Given the description of an element on the screen output the (x, y) to click on. 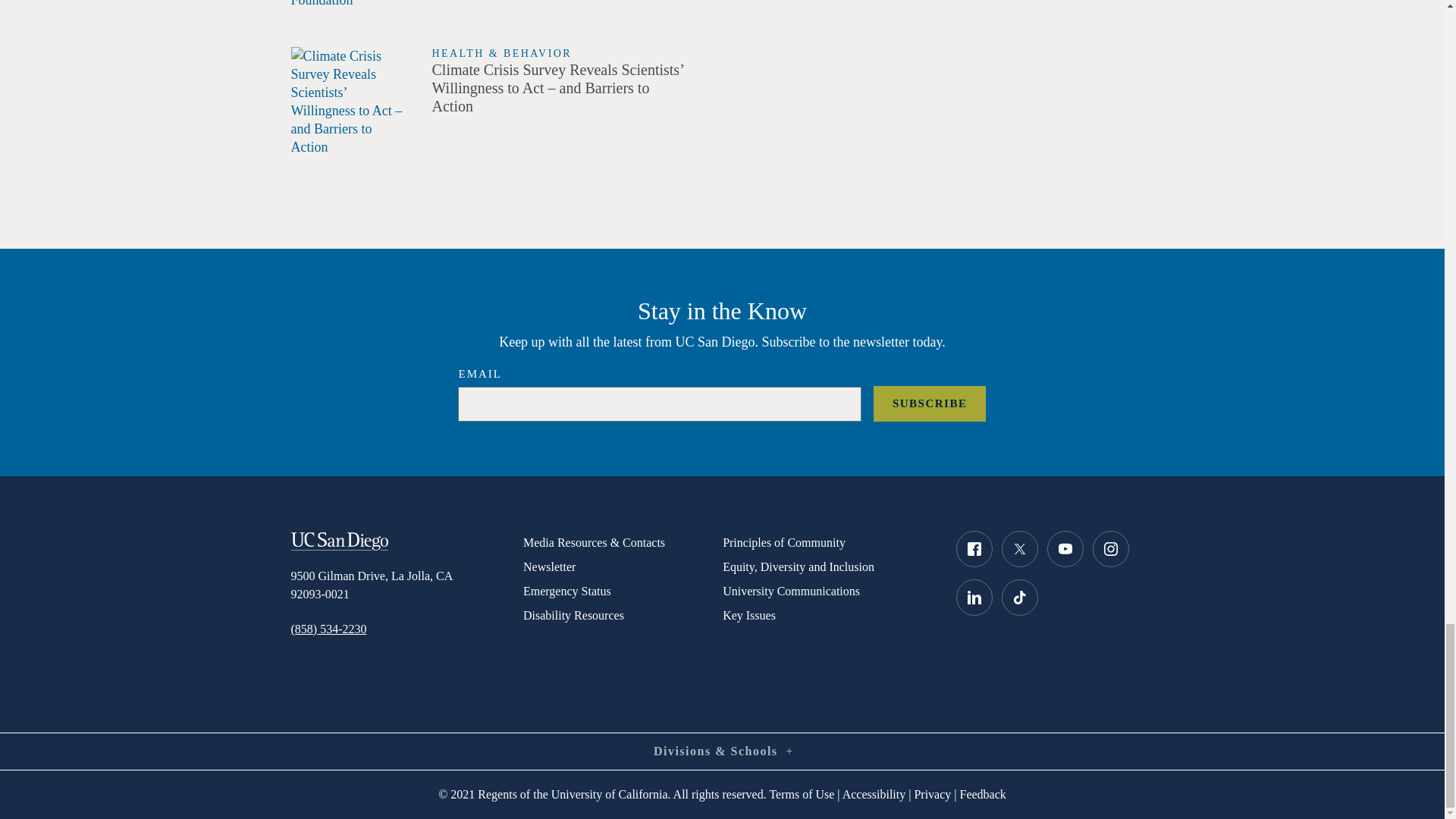
Accessibility (874, 793)
Principles of Community (826, 542)
Athabasca glacier in Canada (350, 101)
Disability Resources (622, 615)
Feedback (982, 793)
Equity, Diversity and Inclusion (826, 567)
Emergency Status (622, 591)
Privacy (932, 793)
Key Issues (826, 615)
